Given the description of an element on the screen output the (x, y) to click on. 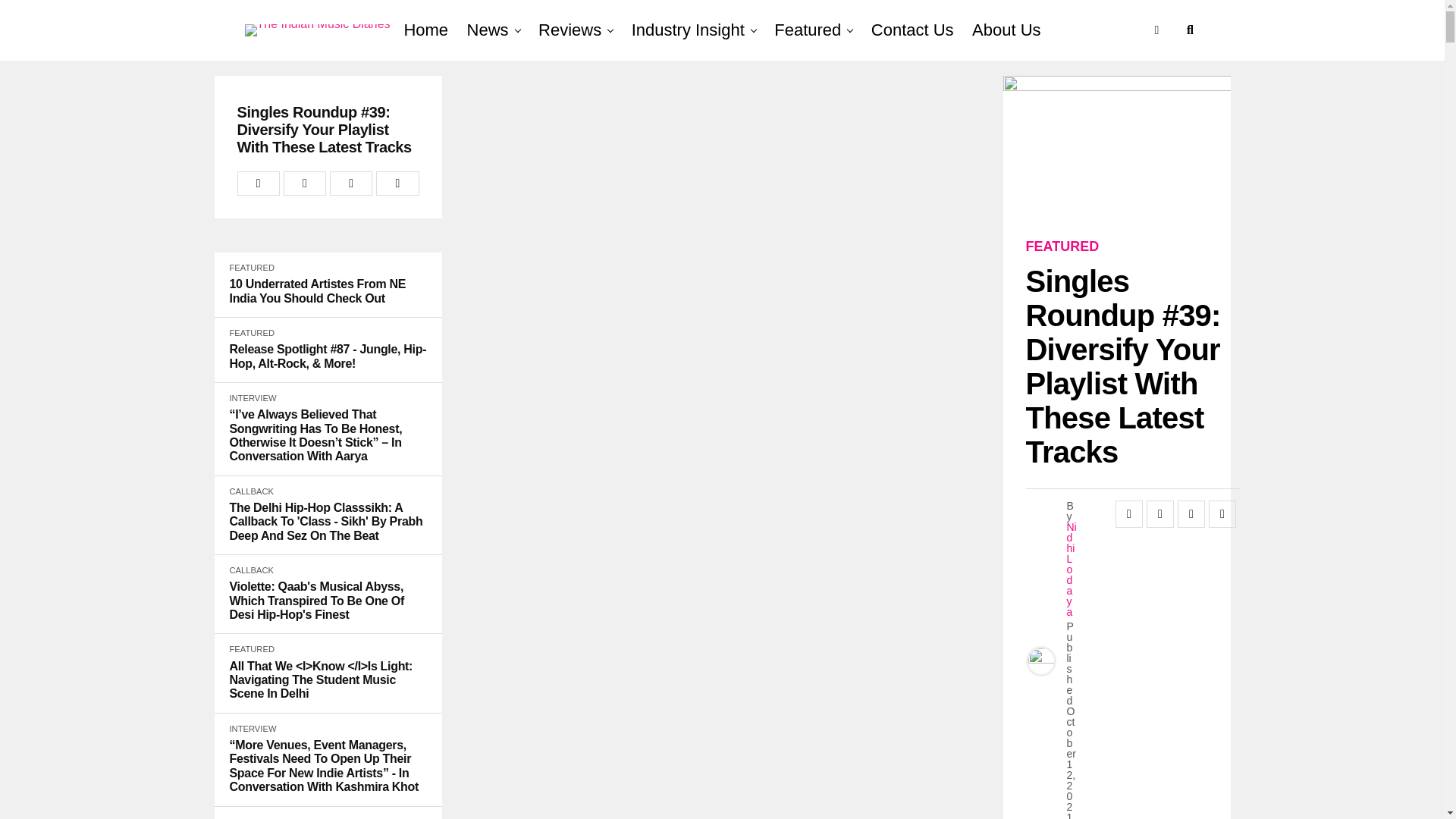
Share on Flipboard (351, 183)
Home (425, 30)
Tweet This Post (304, 183)
News (488, 30)
Industry Insight (688, 30)
Featured (807, 30)
Reviews (569, 30)
Share on Facebook (257, 183)
